Given the description of an element on the screen output the (x, y) to click on. 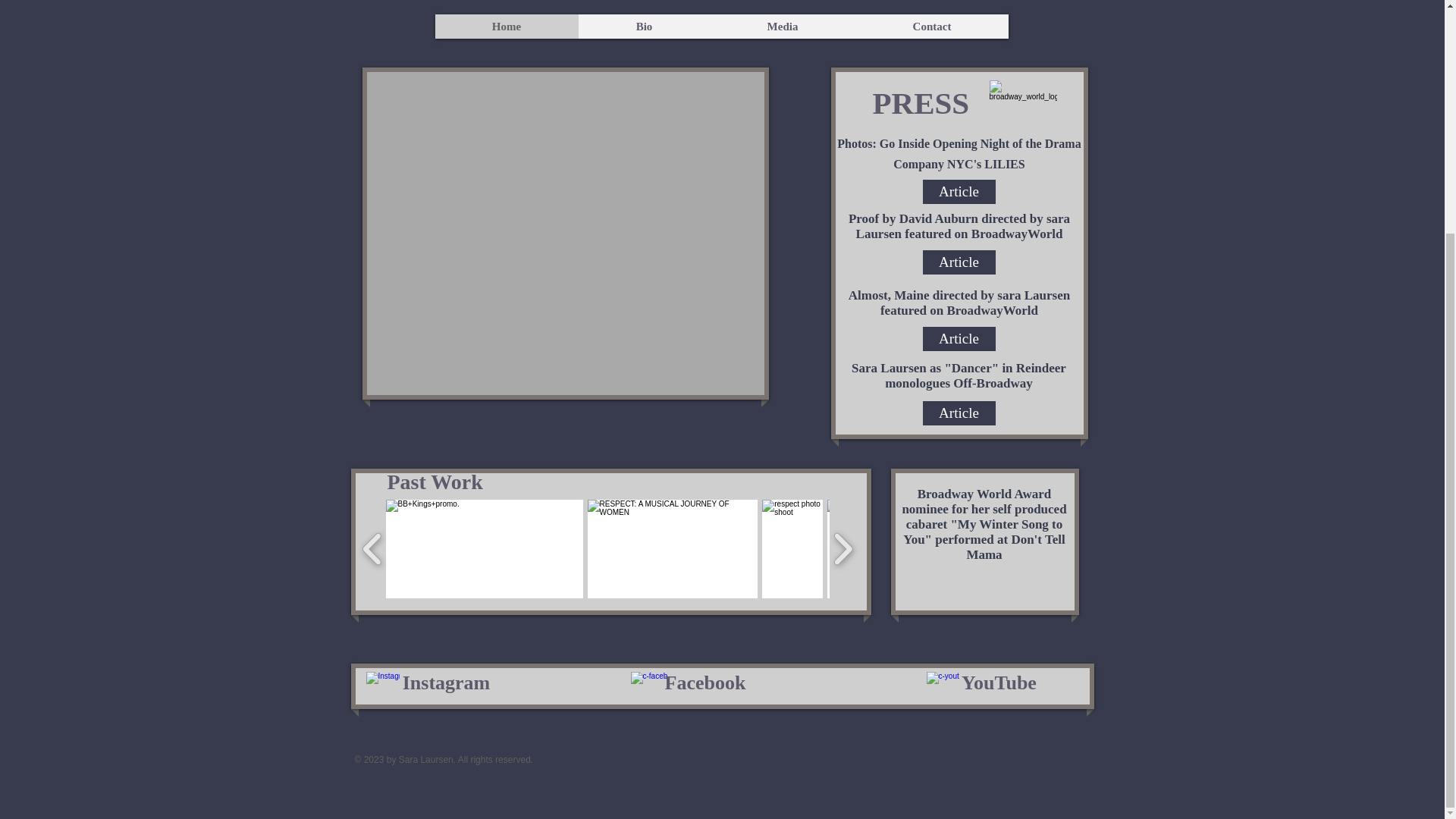
Home (506, 26)
Article (957, 413)
Media (783, 26)
Article (957, 191)
Bio (643, 26)
Instagram (446, 683)
Facebook (705, 683)
YouTube (998, 683)
Article (957, 262)
Article (957, 338)
Contact (932, 26)
